Given the description of an element on the screen output the (x, y) to click on. 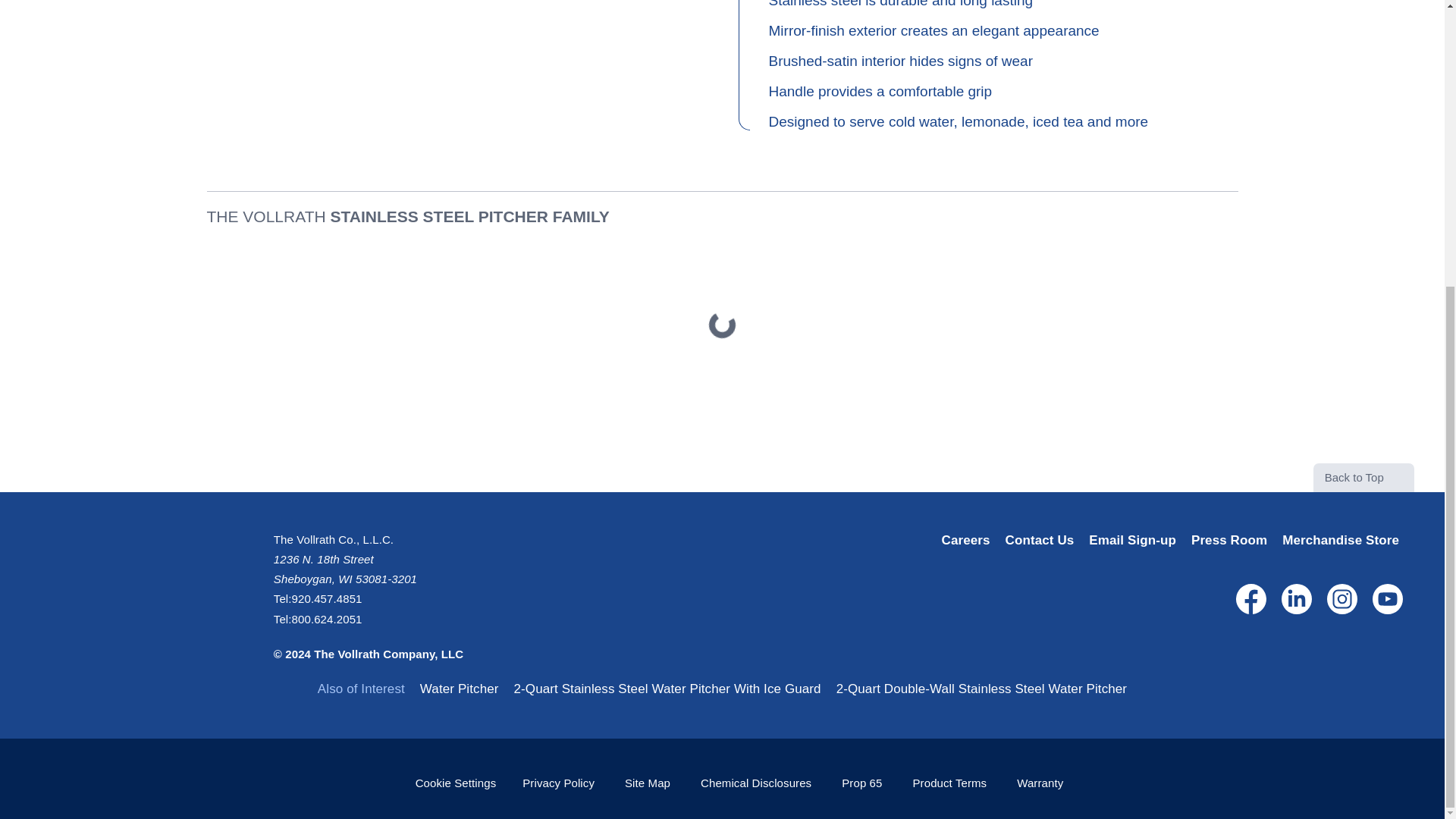
Back to Top (1363, 477)
